Given the description of an element on the screen output the (x, y) to click on. 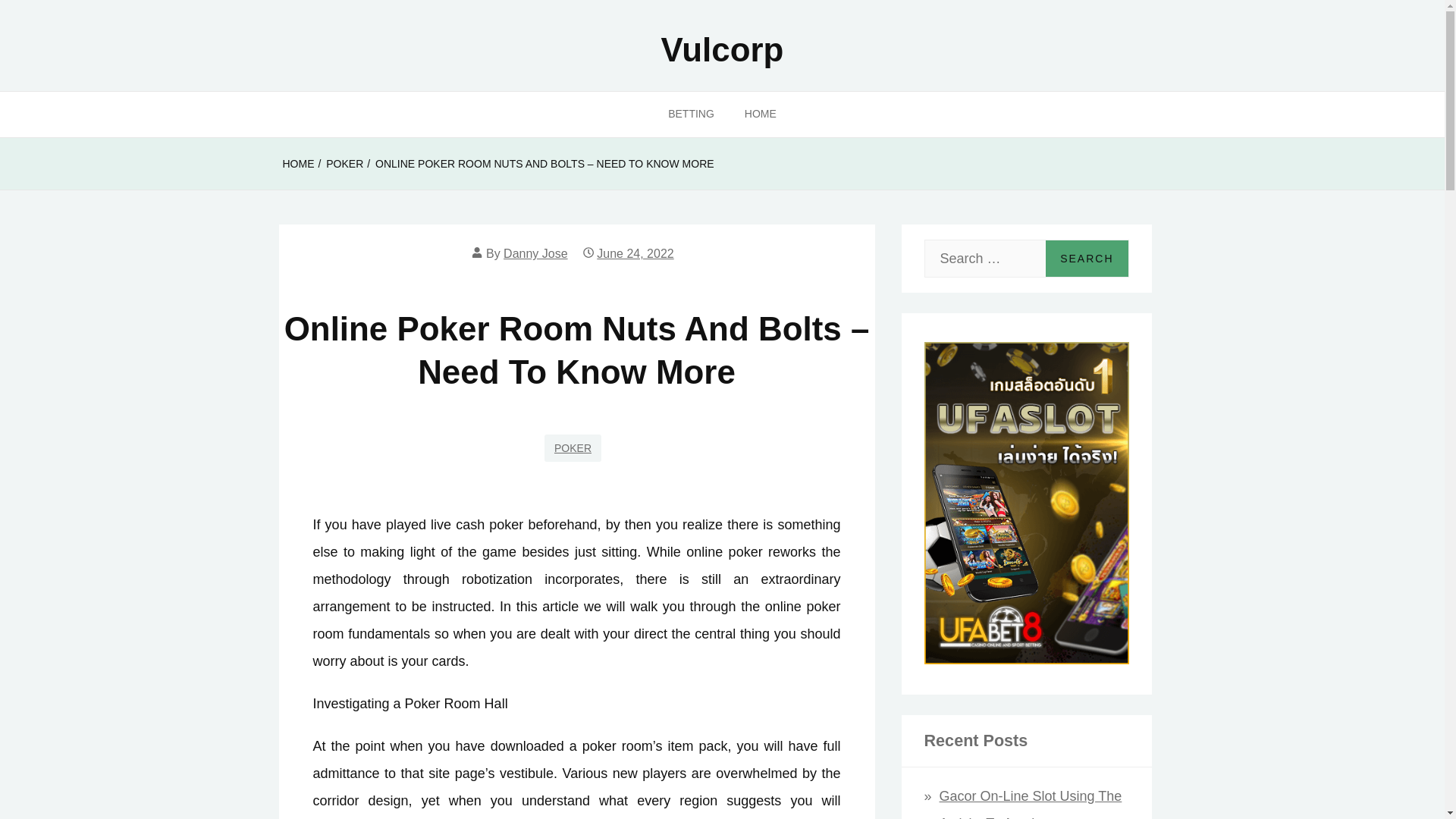
BETTING (690, 114)
POKER (344, 164)
HOME (760, 114)
HOME (298, 164)
Search (1085, 258)
Search (1085, 258)
Vulcorp (722, 49)
